Given the description of an element on the screen output the (x, y) to click on. 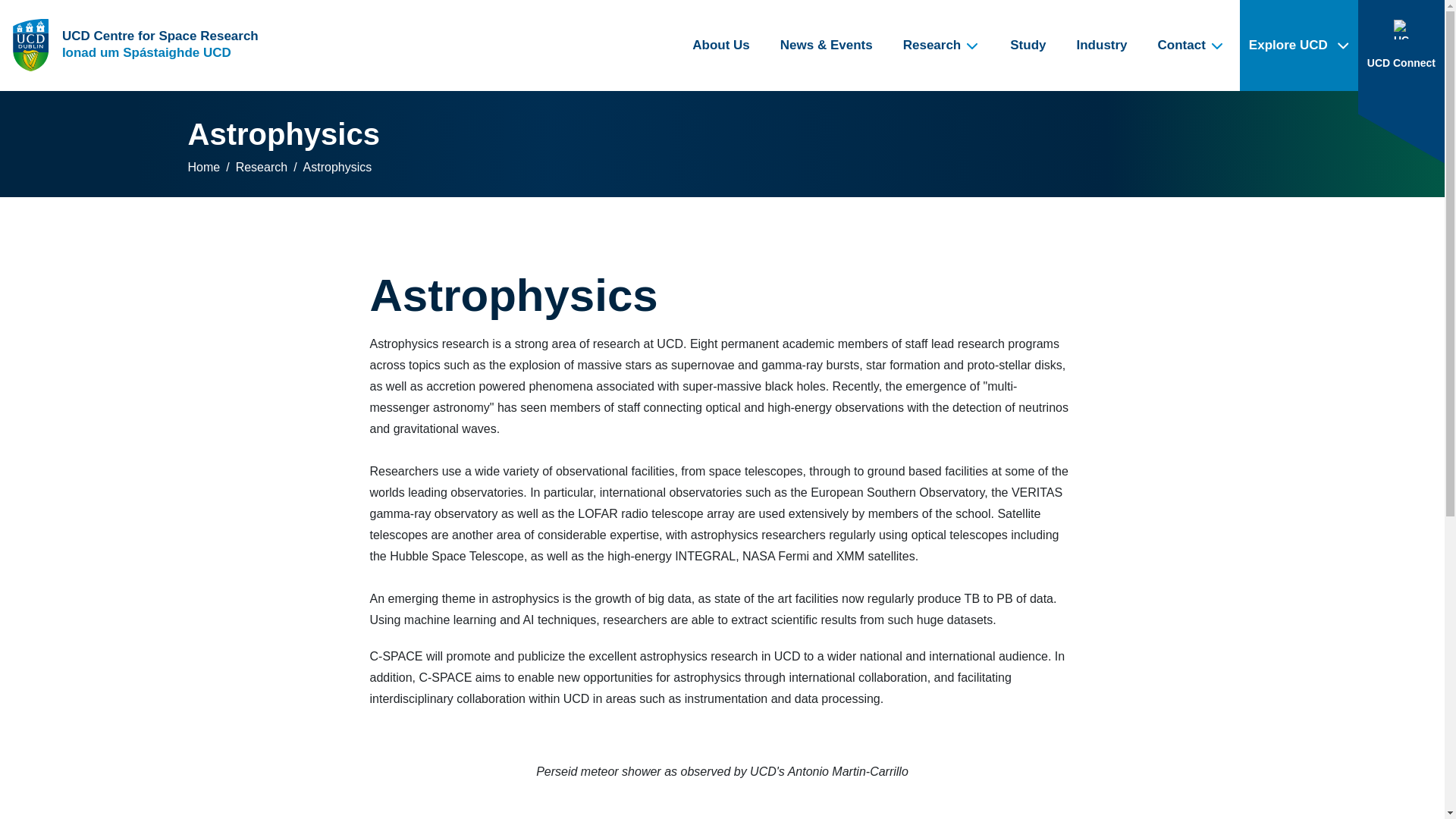
Industry (1101, 45)
Research (941, 45)
Go to 'Explore' page (1299, 45)
About Us (721, 45)
Go to 'Home' page (135, 45)
Contact (1191, 45)
Explore UCD (1299, 45)
